Given the description of an element on the screen output the (x, y) to click on. 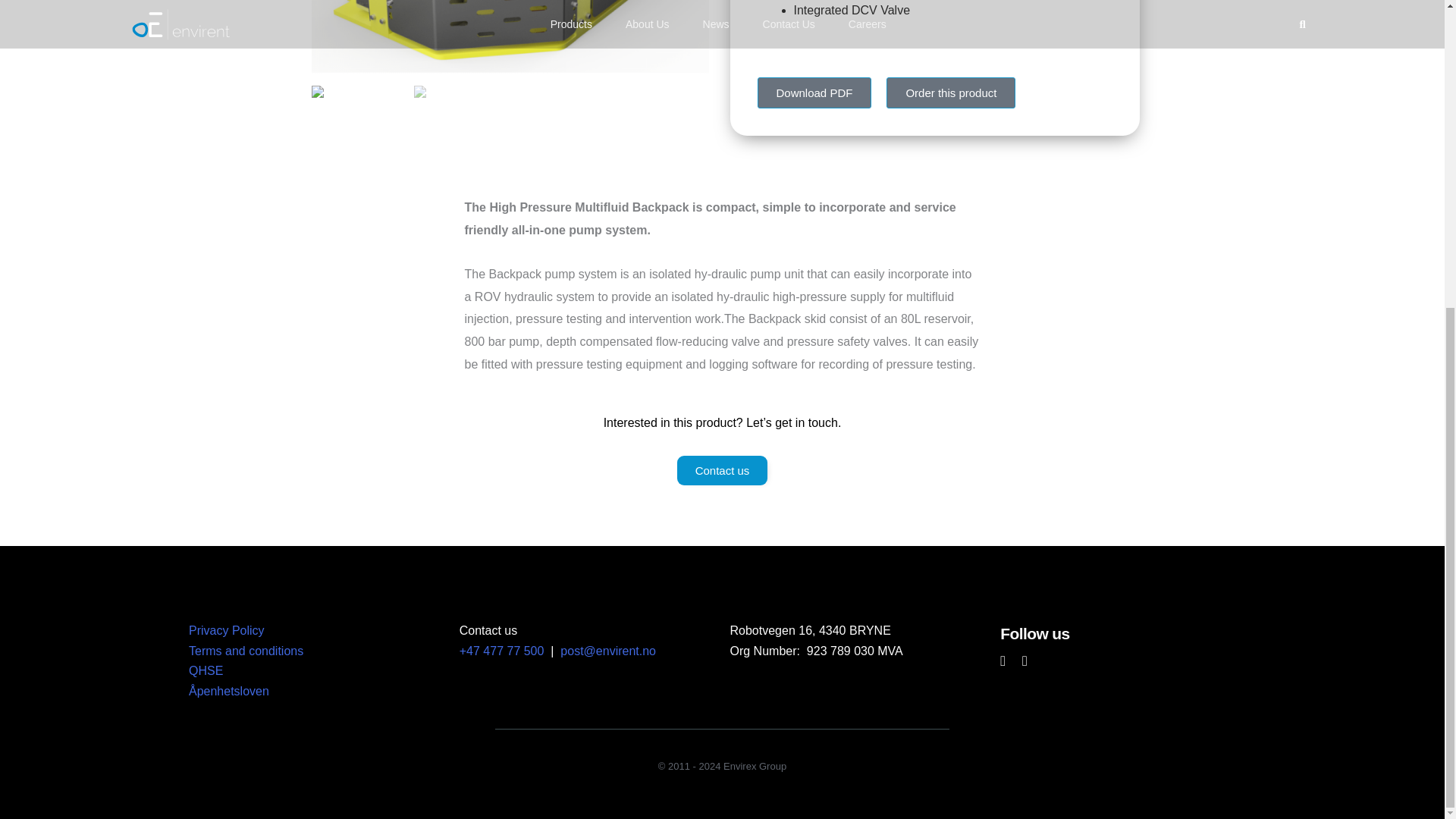
Contact us (722, 470)
Backpack-2-600x600 (509, 36)
Terms and conditions (245, 650)
Privacy Policy (226, 630)
Order this product (950, 92)
QHSE (205, 670)
Download PDF (813, 92)
